Given the description of an element on the screen output the (x, y) to click on. 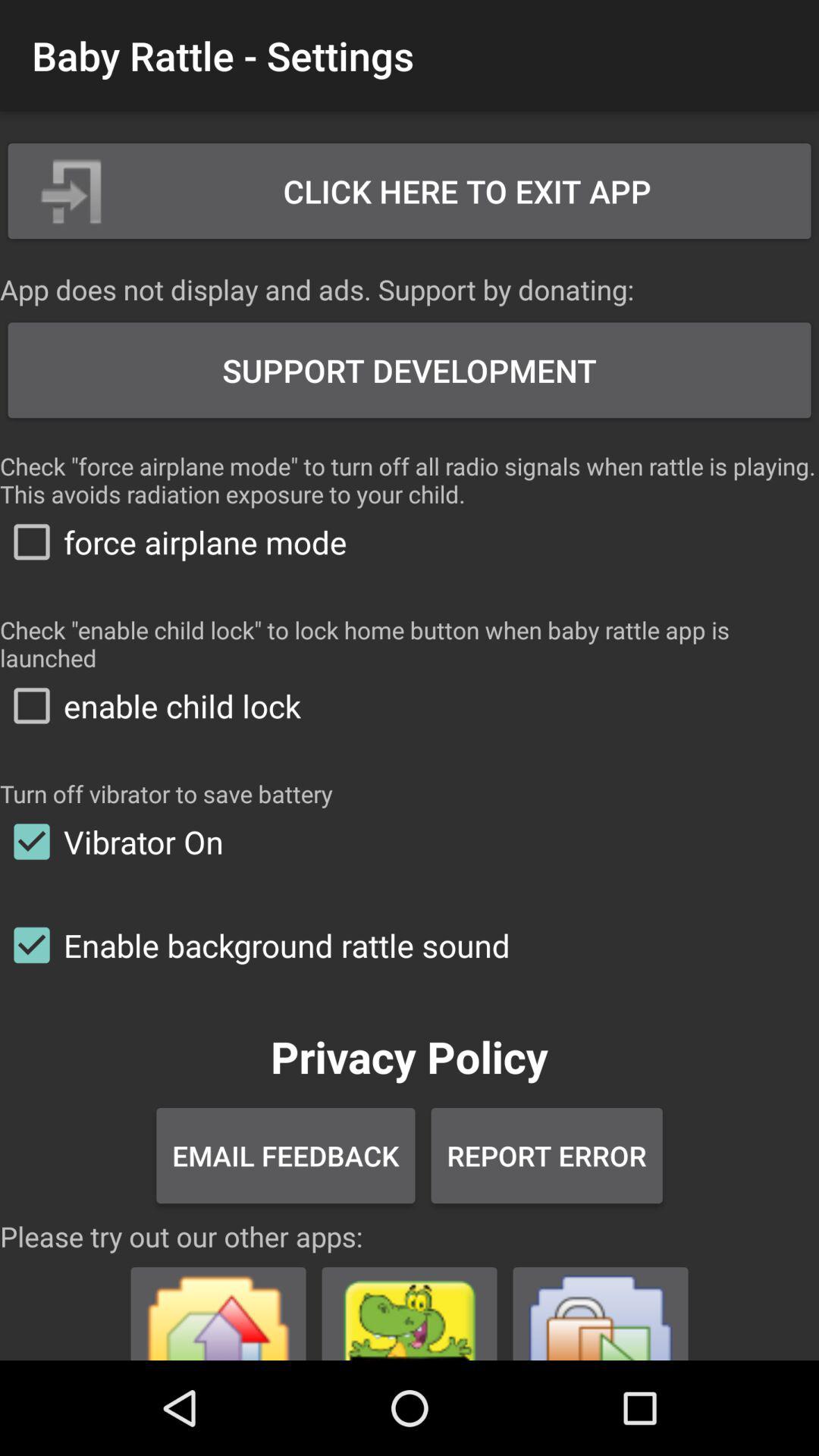
open the app (600, 1307)
